Given the description of an element on the screen output the (x, y) to click on. 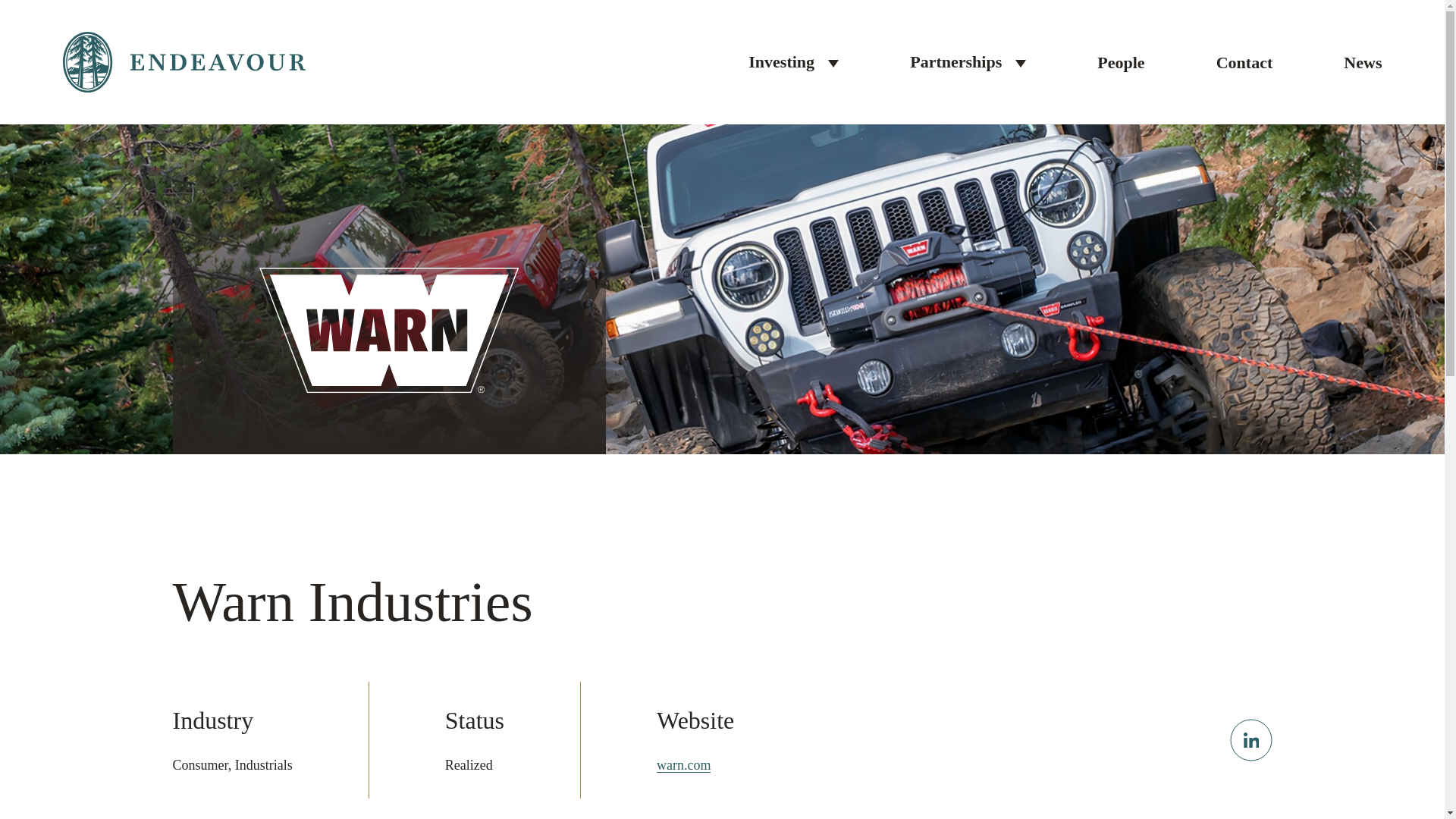
People (1120, 62)
Partnerships (955, 62)
Investing (780, 62)
warn.com (683, 764)
News (1362, 62)
Contact (1243, 62)
